Given the description of an element on the screen output the (x, y) to click on. 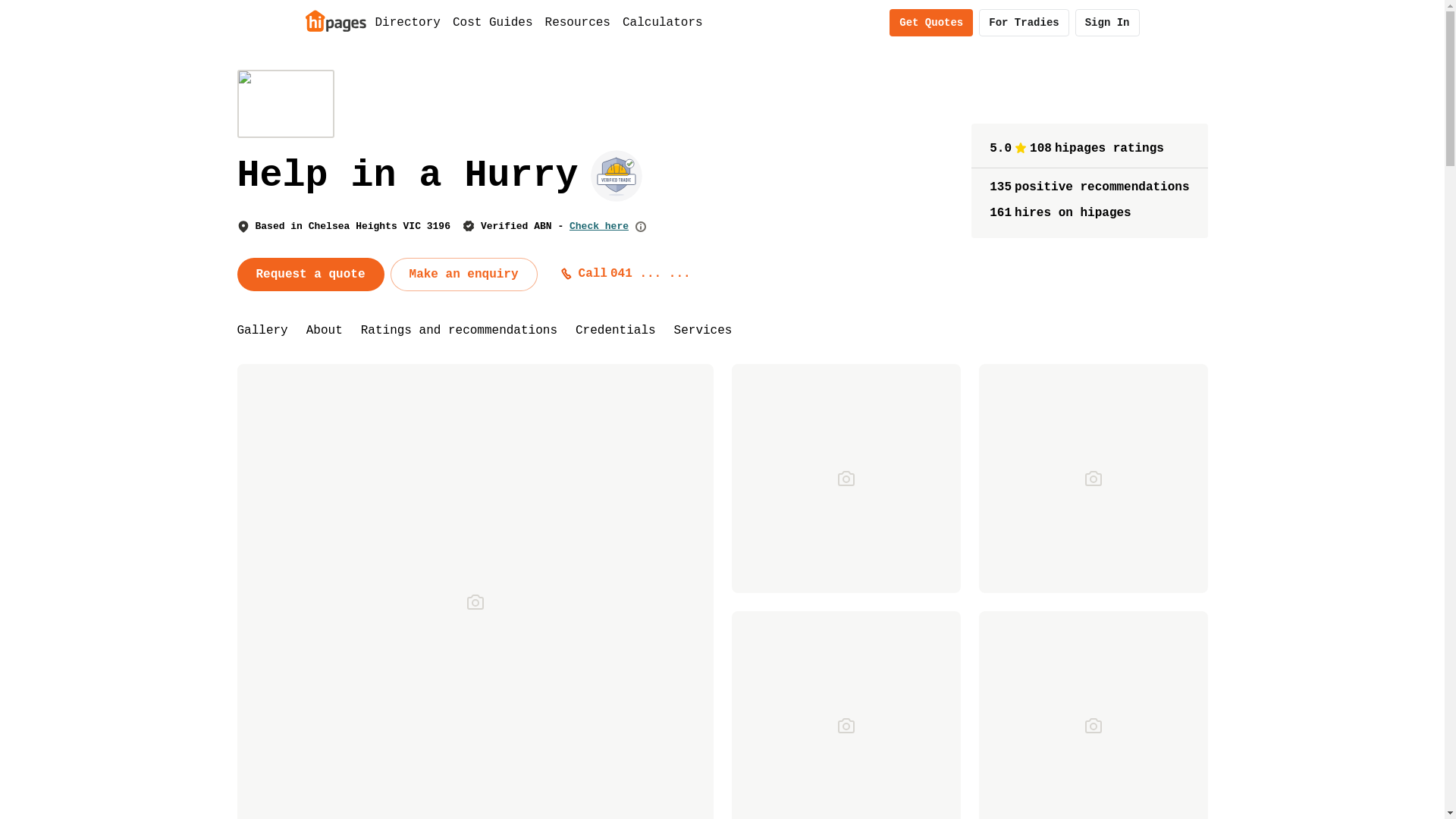
Request a quote Element type: text (309, 274)
Make an enquiry Element type: text (463, 274)
Get Quotes Element type: text (930, 22)
Directory Element type: text (406, 22)
Calculators Element type: text (662, 22)
Cost Guides Element type: text (492, 22)
About Element type: text (324, 330)
Sign In Element type: text (1107, 22)
Gallery Element type: text (261, 330)
Call
041 ... ... Element type: text (626, 273)
For Tradies Element type: text (1023, 22)
Call
041 ... ... Element type: text (629, 273)
Ratings and recommendations Element type: text (458, 330)
Verified ABN - Check here Element type: text (554, 226)
Resources Element type: text (577, 22)
Services Element type: text (703, 330)
Home Element type: hover (334, 20)
Credentials Element type: text (615, 330)
